Given the description of an element on the screen output the (x, y) to click on. 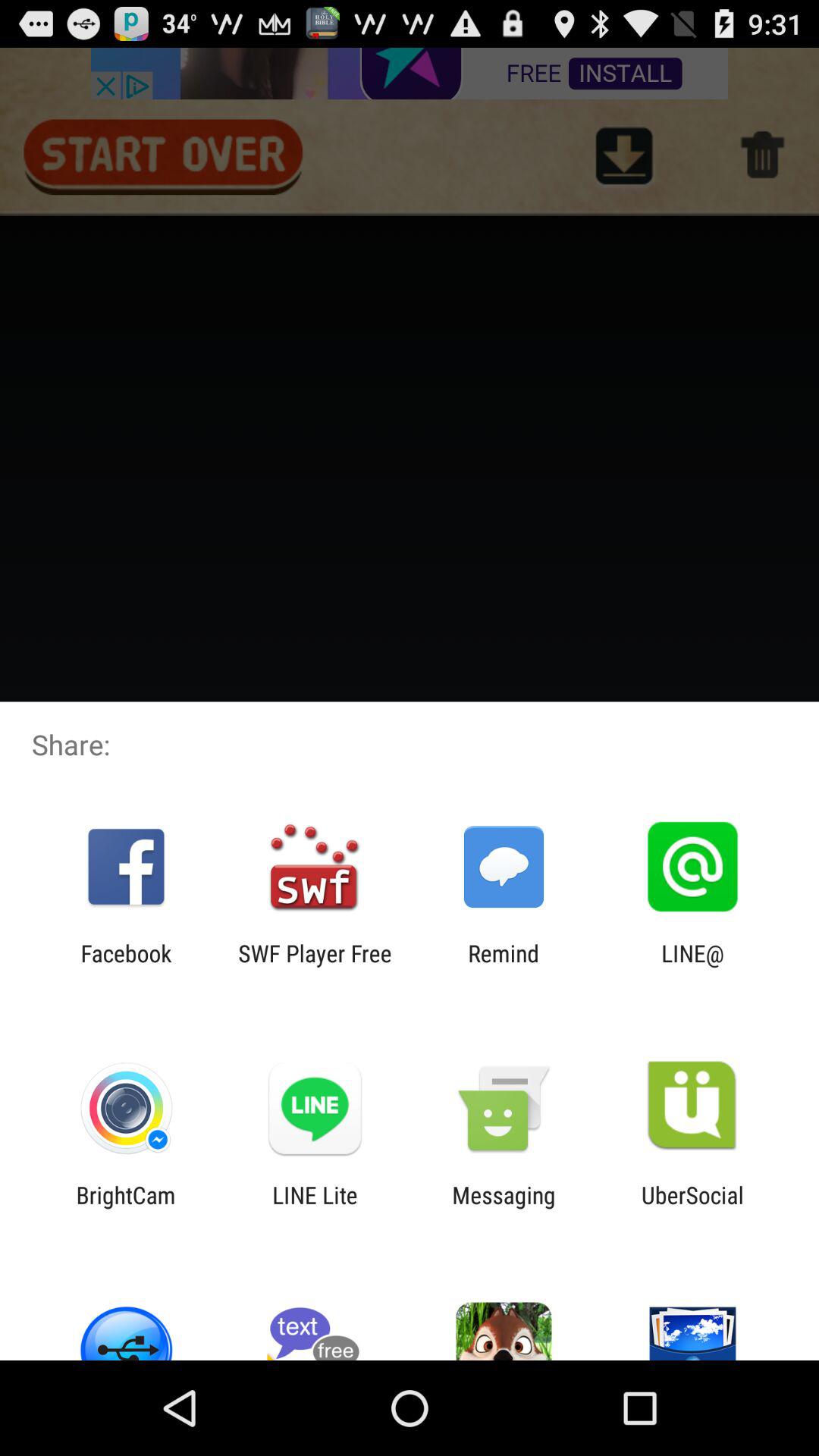
turn on the swf player free app (314, 966)
